Given the description of an element on the screen output the (x, y) to click on. 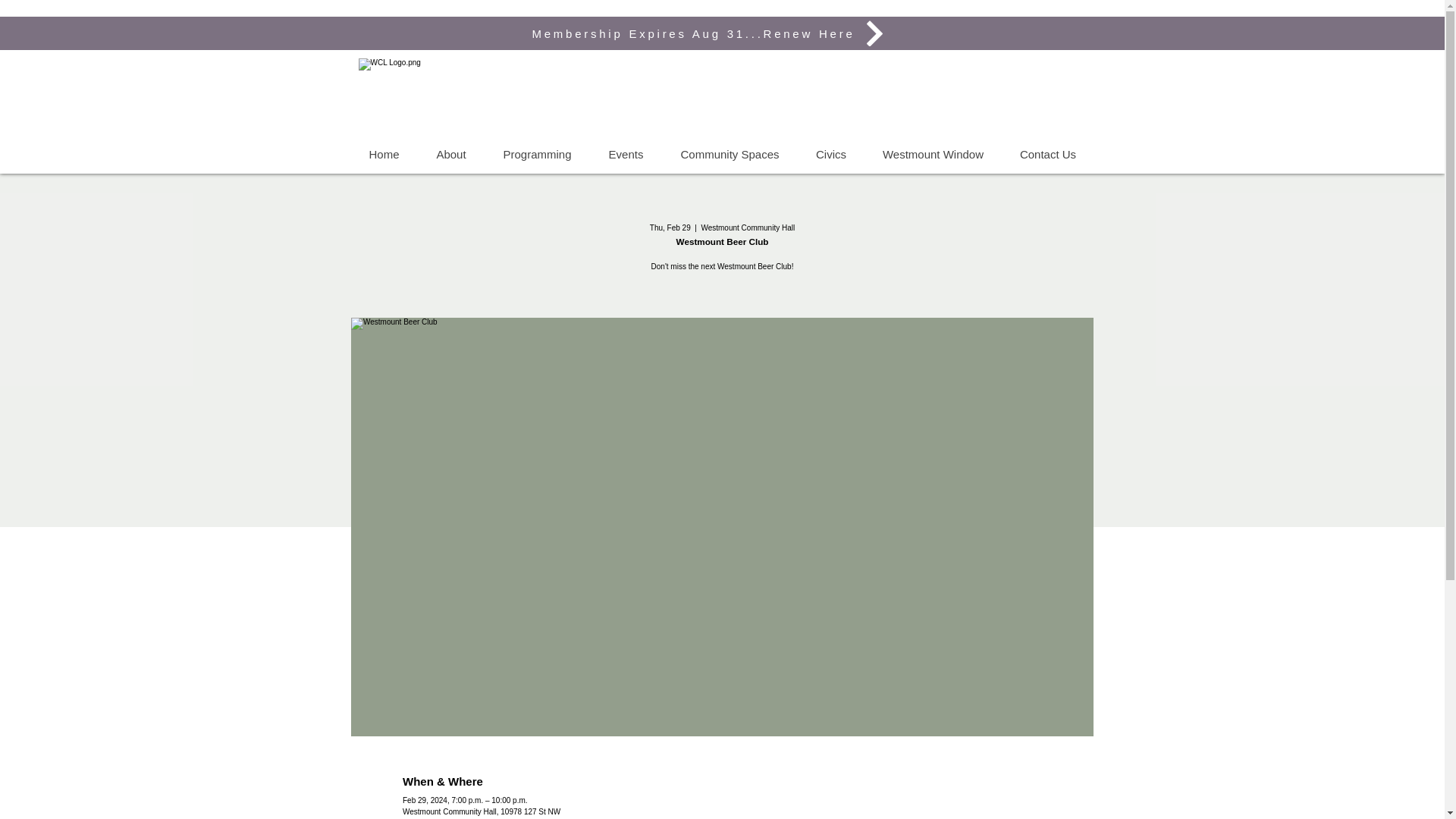
Programming (536, 154)
Westmount Window (932, 154)
Contact Us (1047, 154)
Home (383, 154)
About (449, 154)
Membership Expires Aug 31...Renew Here (709, 33)
Events (625, 154)
